Given the description of an element on the screen output the (x, y) to click on. 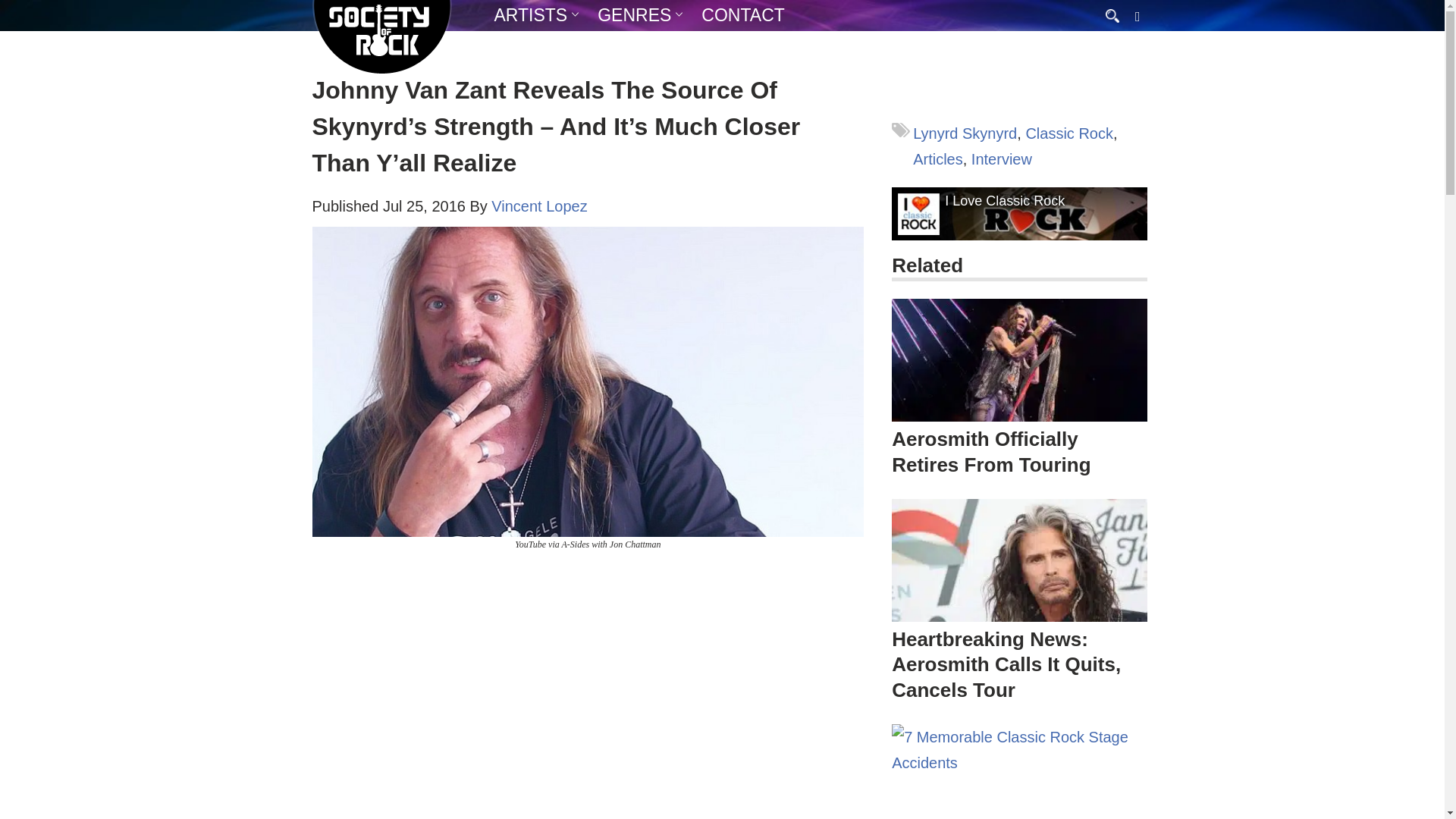
7 Memorable Classic Rock Stage Accidents (1019, 771)
Heartbreaking News: Aerosmith Calls It Quits, Cancels Tour (1006, 664)
GENRES (633, 15)
CONTACT (742, 15)
7 Memorable Classic Rock Stage Accidents (1019, 771)
Heartbreaking News: Aerosmith Calls It Quits, Cancels Tour (1019, 559)
I Love Classic Rock (1004, 201)
Search (15, 6)
ARTISTS (531, 15)
Heartbreaking News: Aerosmith Calls It Quits, Cancels Tour (1019, 583)
Aerosmith Officially Retires From Touring (1019, 359)
Aerosmith Officially Retires From Touring (1019, 370)
Aerosmith Officially Retires From Touring (990, 451)
ABOUT (577, 45)
